Given the description of an element on the screen output the (x, y) to click on. 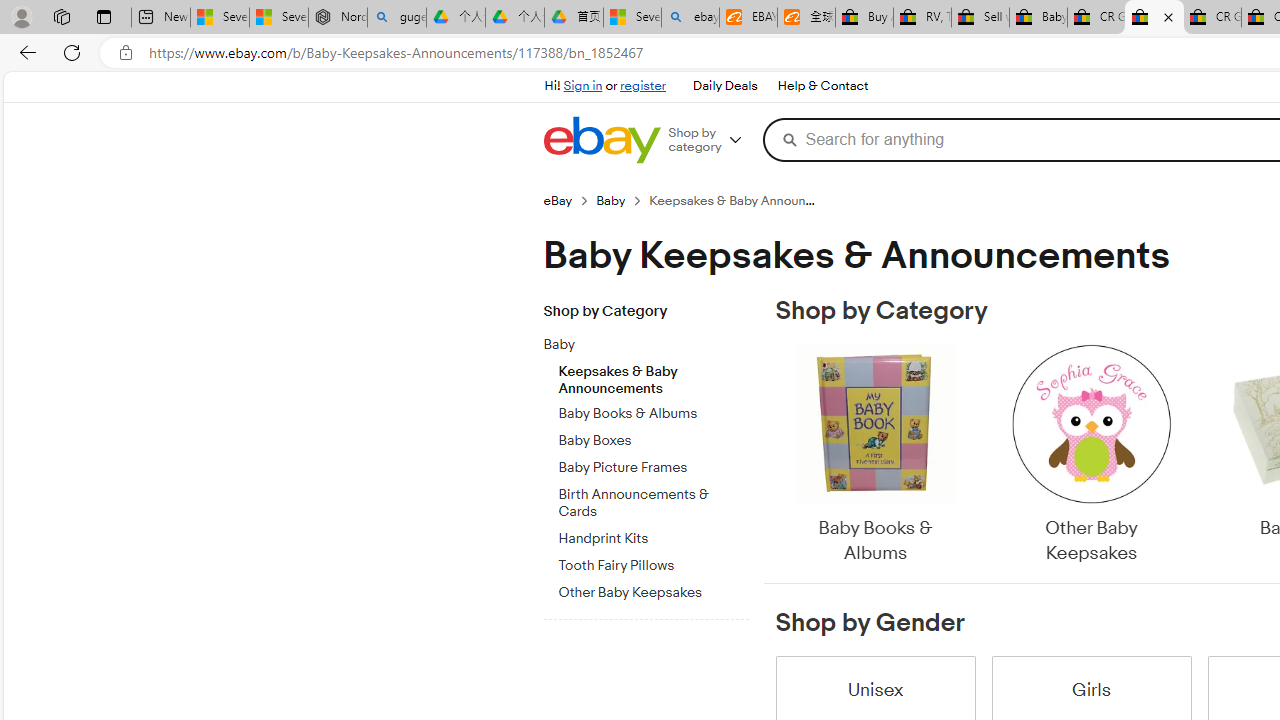
Buy Auto Parts & Accessories | eBay (864, 17)
guge yunpan - Search (396, 17)
eBay (557, 200)
Tooth Fairy Pillows (653, 562)
Sell worldwide with eBay (980, 17)
